Given the description of an element on the screen output the (x, y) to click on. 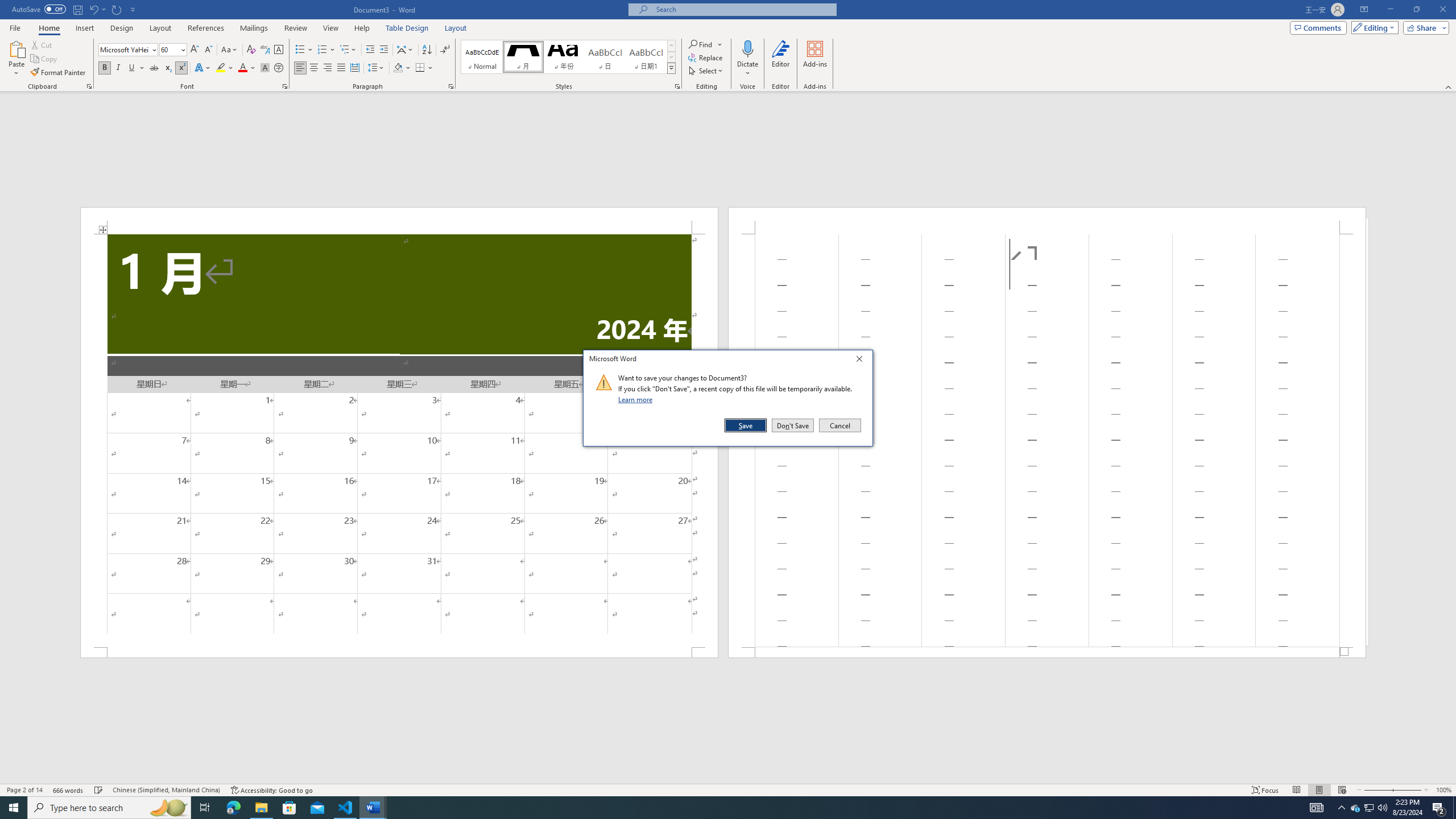
Asian Layout (405, 49)
Microsoft Store (289, 807)
Styles... (1355, 807)
Text Highlight Color (676, 85)
Search highlights icon opens search home window (224, 67)
Action Center, 2 new notifications (167, 807)
